Given the description of an element on the screen output the (x, y) to click on. 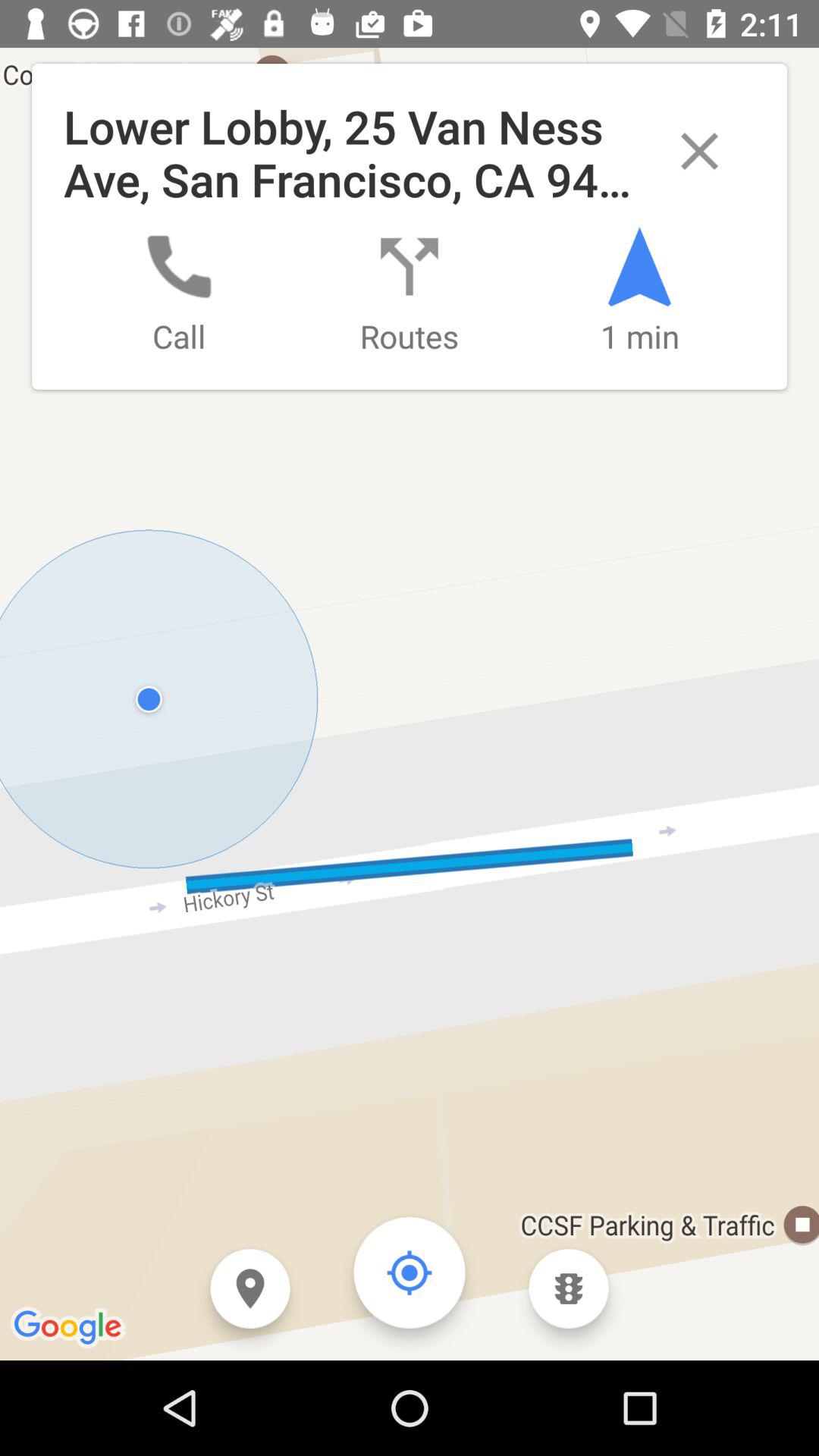
location (250, 1288)
